Given the description of an element on the screen output the (x, y) to click on. 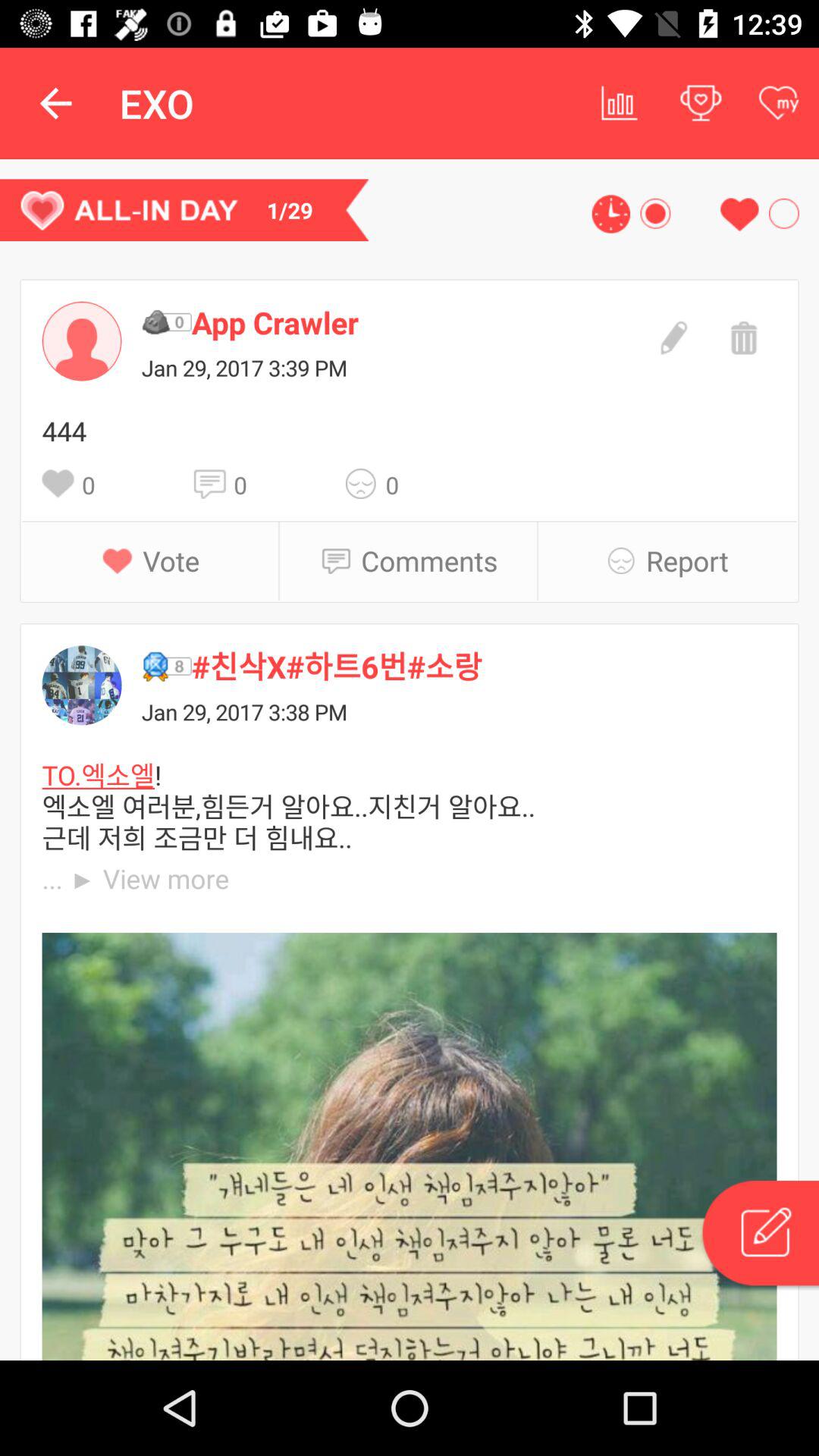
create post (759, 1235)
